Given the description of an element on the screen output the (x, y) to click on. 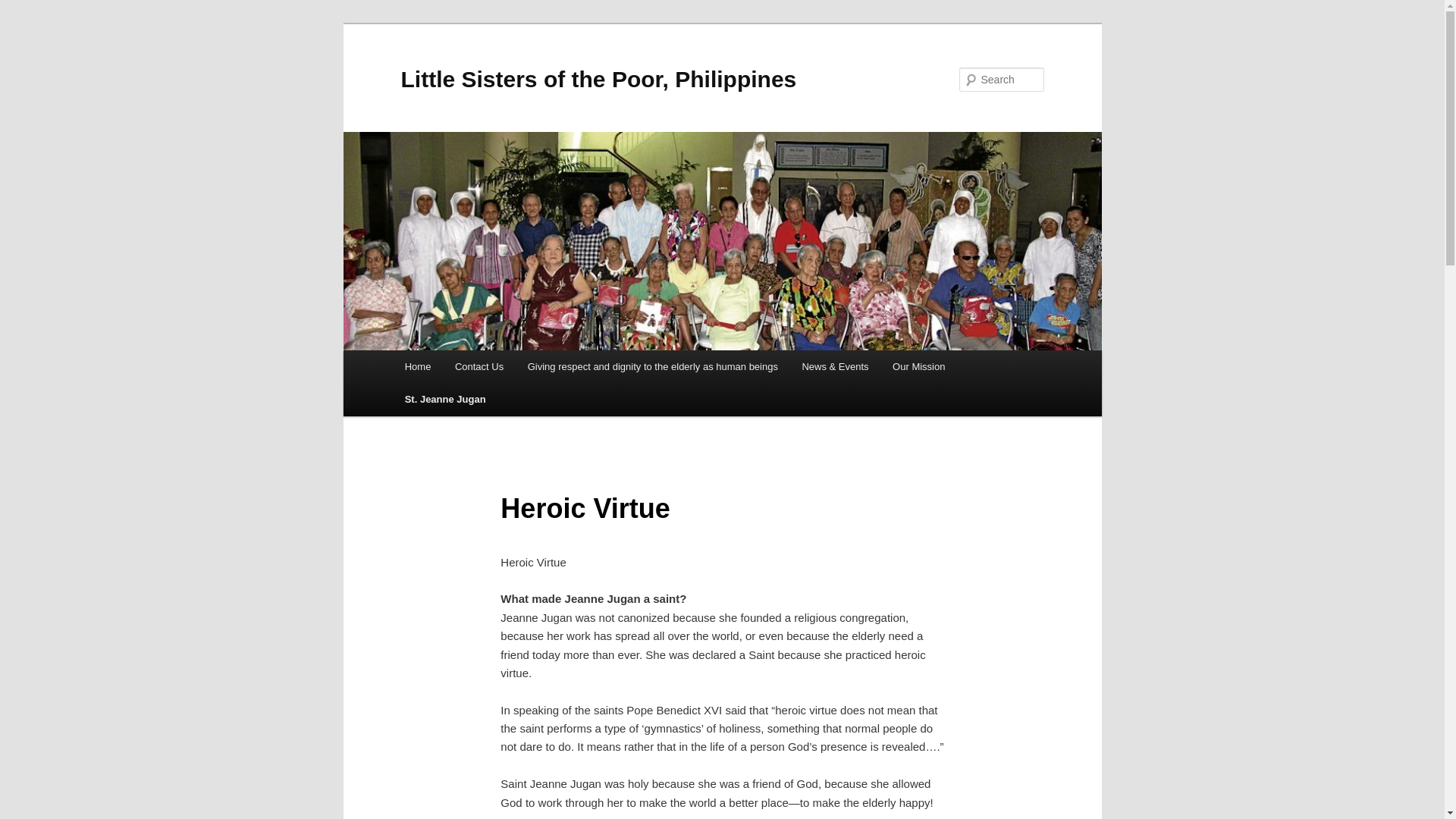
Search (24, 8)
St. Jeanne Jugan (445, 399)
Little Sisters of the Poor, Philippines (598, 78)
Home (417, 366)
Our Mission (918, 366)
Giving respect and dignity to the elderly as human beings (652, 366)
Contact Us (478, 366)
